Given the description of an element on the screen output the (x, y) to click on. 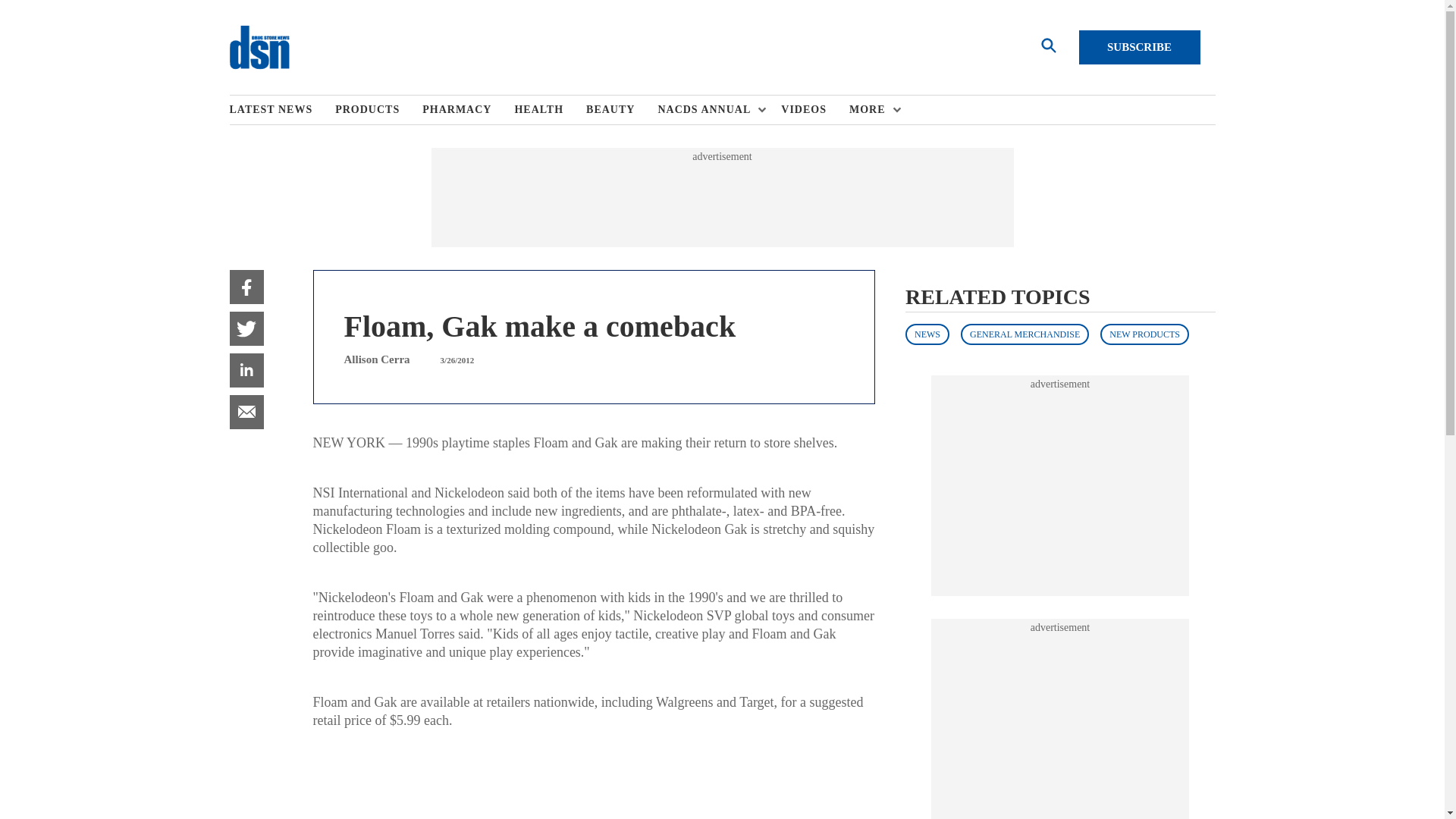
GENERAL MERCHANDISE (1023, 333)
email (245, 411)
3rd party ad content (1059, 485)
VIDEOS (814, 109)
NACDS ANNUAL (708, 109)
facebook (245, 286)
twitter (245, 328)
linkedIn (245, 369)
twitter (245, 328)
BEAUTY (622, 109)
MORE (870, 109)
HEALTH (549, 109)
PHARMACY (467, 109)
linkedIn (245, 369)
email (245, 411)
